Given the description of an element on the screen output the (x, y) to click on. 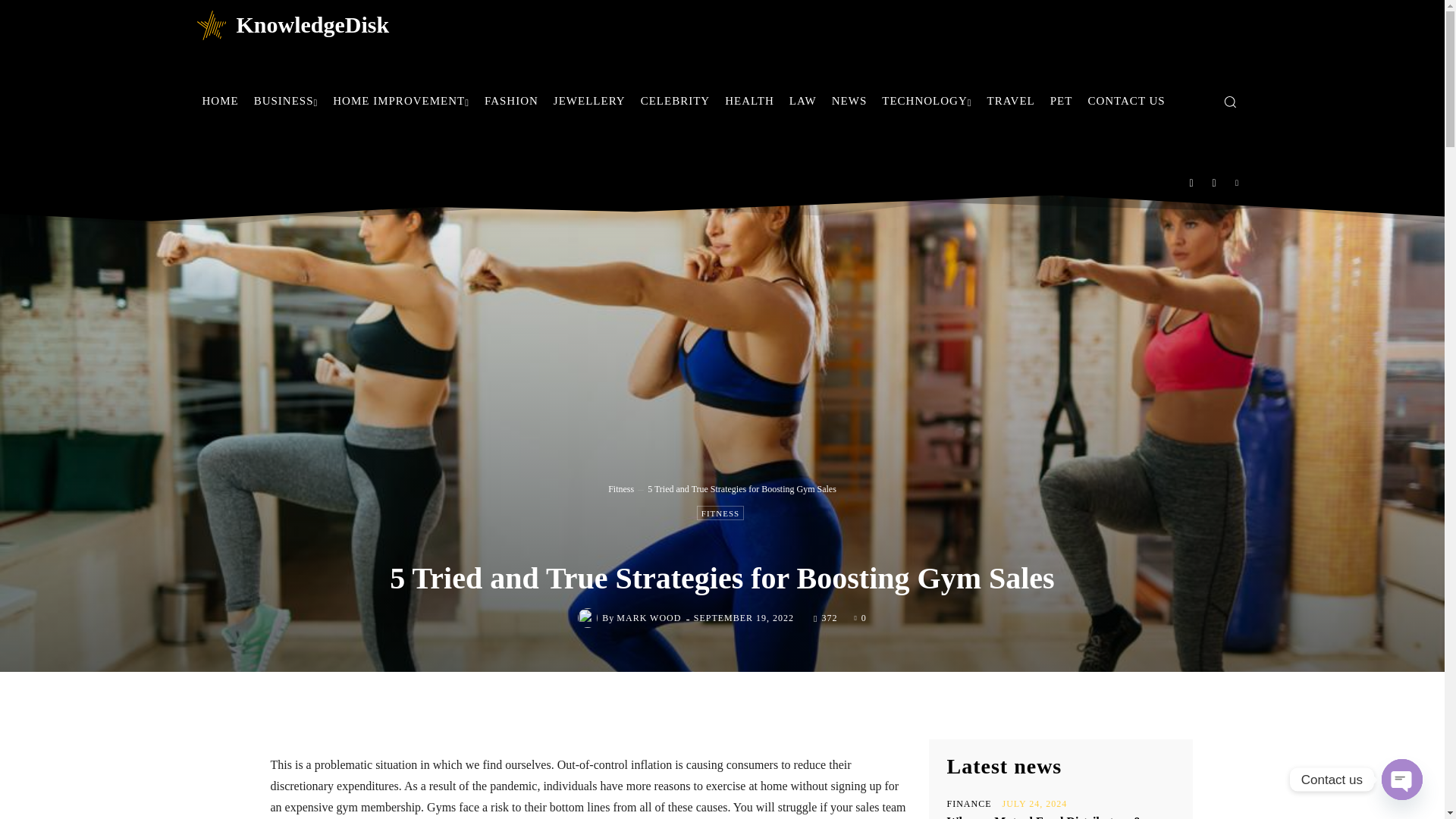
JEWELLERY (589, 100)
BUSINESS (286, 100)
CELEBRITY (675, 100)
Facebook (1191, 182)
FASHION (511, 100)
Mark wood (590, 618)
TECHNOLOGY (926, 100)
View all posts in Fitness (620, 489)
HOME (219, 100)
HOME IMPROVEMENT (400, 100)
